Given the description of an element on the screen output the (x, y) to click on. 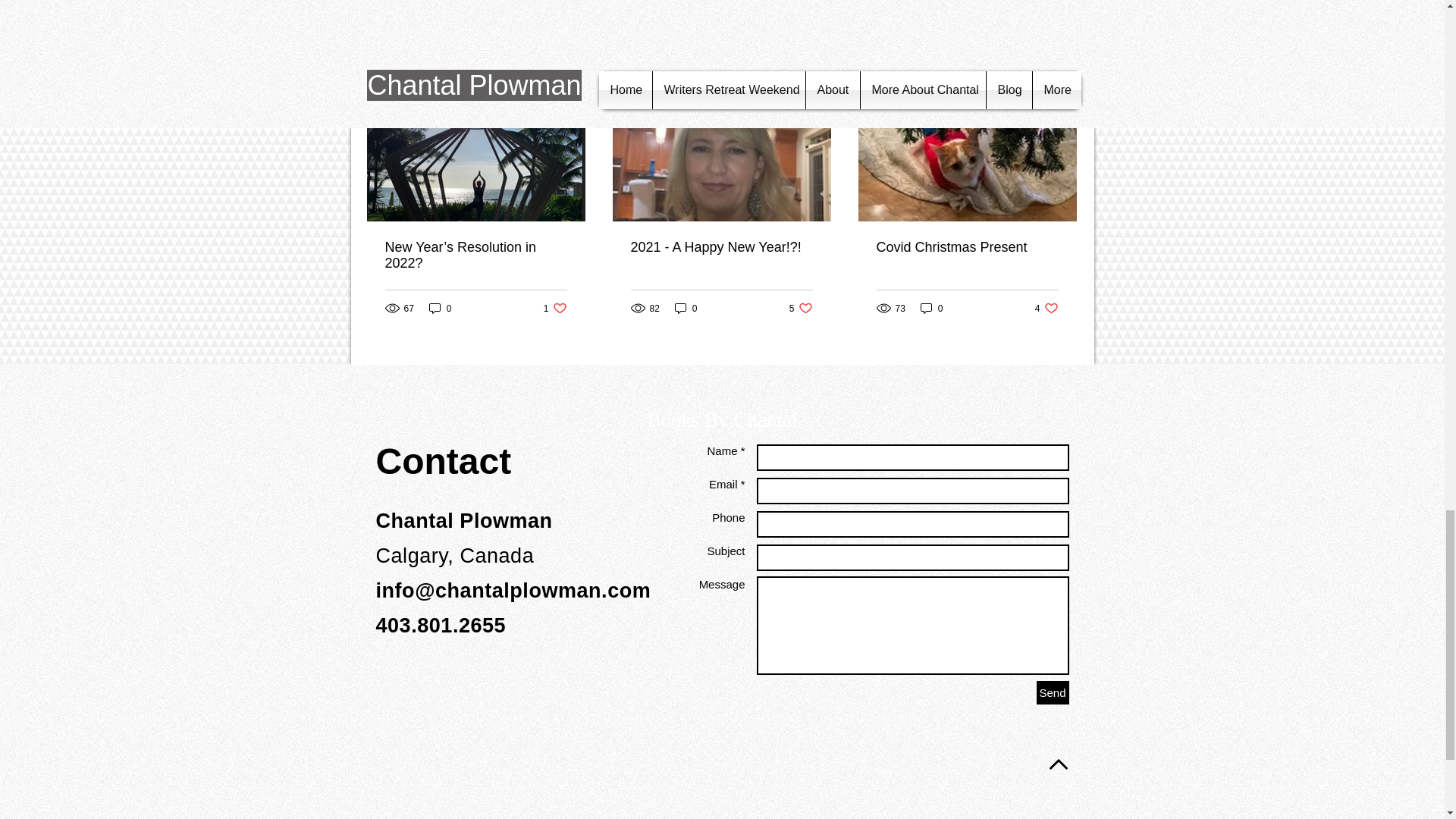
Covid Christmas Present (967, 247)
2021 - A Happy New Year!?! (721, 247)
0 (800, 308)
See All (555, 308)
0 (685, 308)
0 (1061, 71)
